Given the description of an element on the screen output the (x, y) to click on. 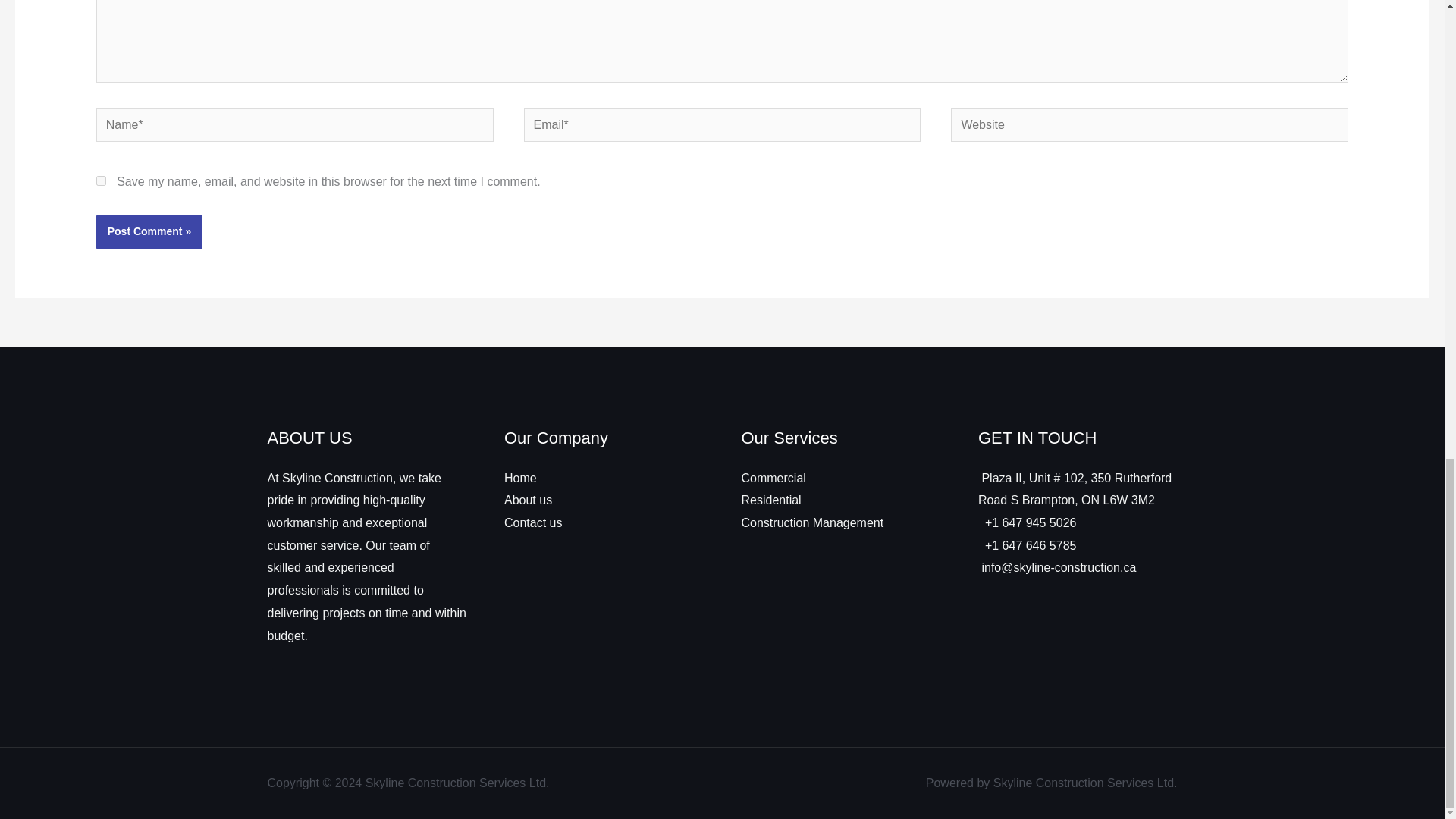
yes (101, 180)
Construction Management (812, 522)
Commercial (773, 477)
Contact us (532, 522)
Residential (771, 499)
About us (527, 499)
Home (520, 477)
